Given the description of an element on the screen output the (x, y) to click on. 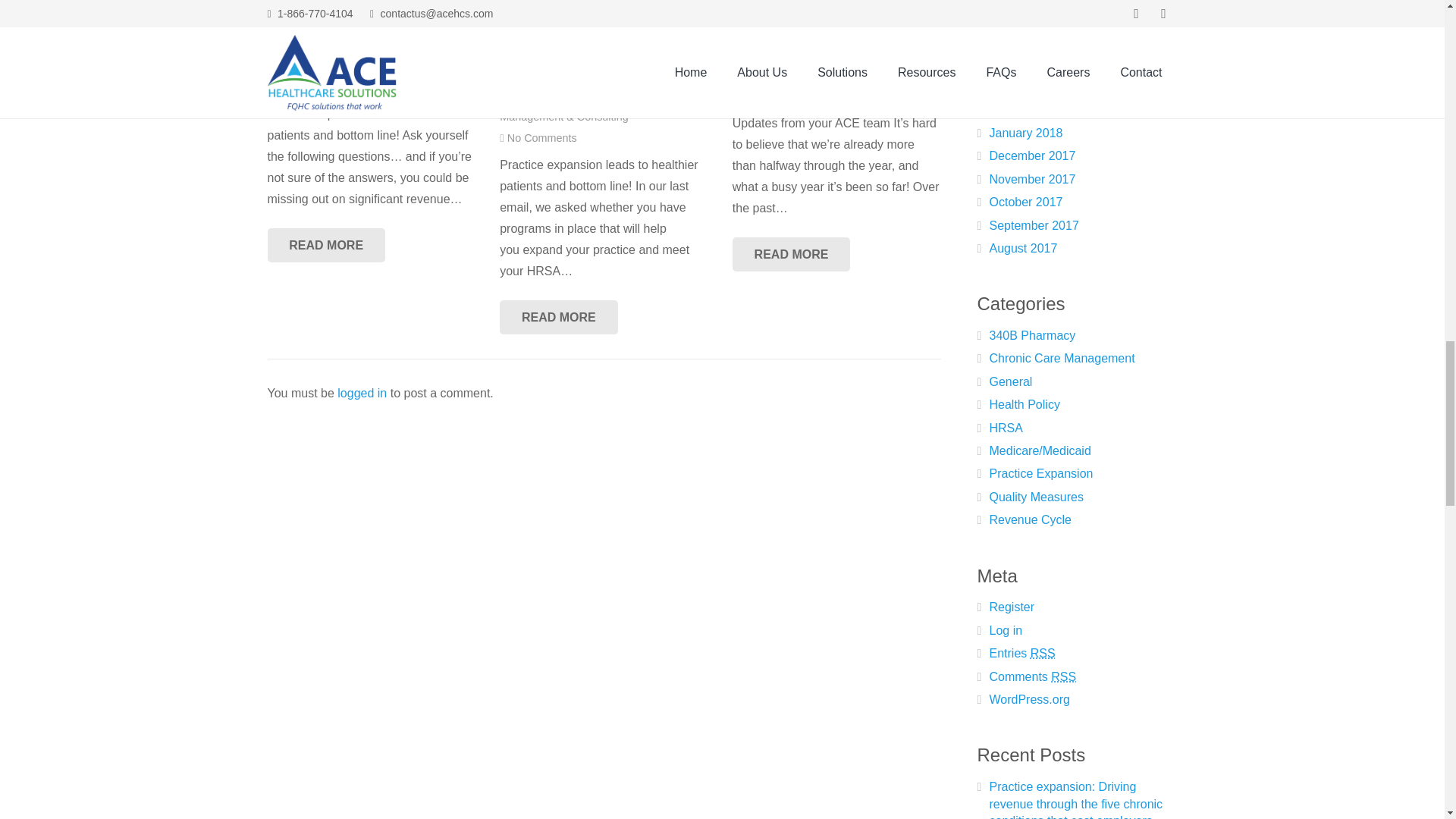
No Comments (541, 137)
No Comments (309, 87)
Really Simple Syndication (1063, 676)
No Comments (774, 96)
News and other interesting information for FQHCs. (1010, 381)
Really Simple Syndication (1042, 653)
